Given the description of an element on the screen output the (x, y) to click on. 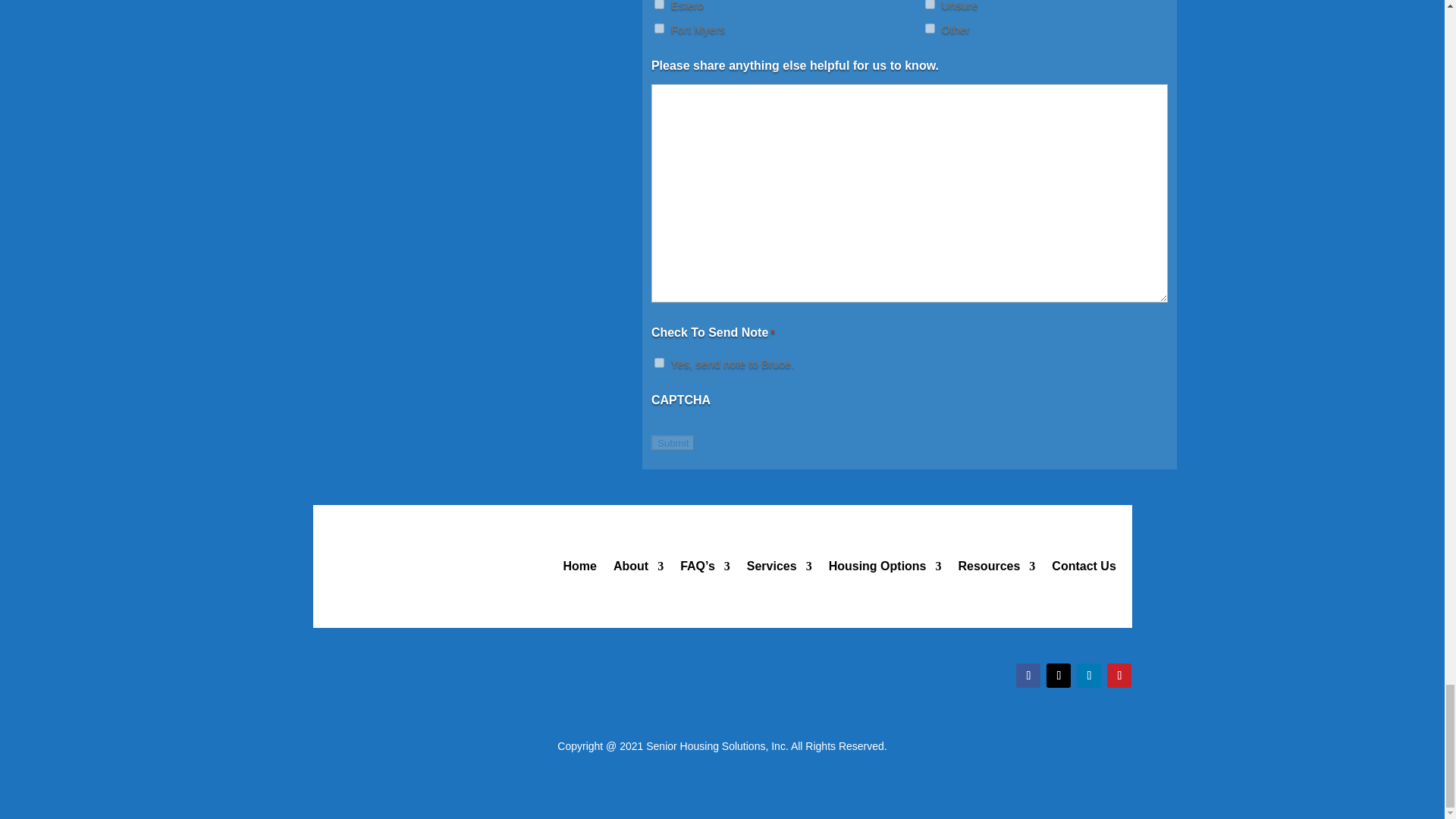
Follow on Pinterest (1118, 675)
Follow on Facebook (1028, 675)
Follow on LinkedIn (1088, 675)
Follow on X (1058, 675)
